Given the description of an element on the screen output the (x, y) to click on. 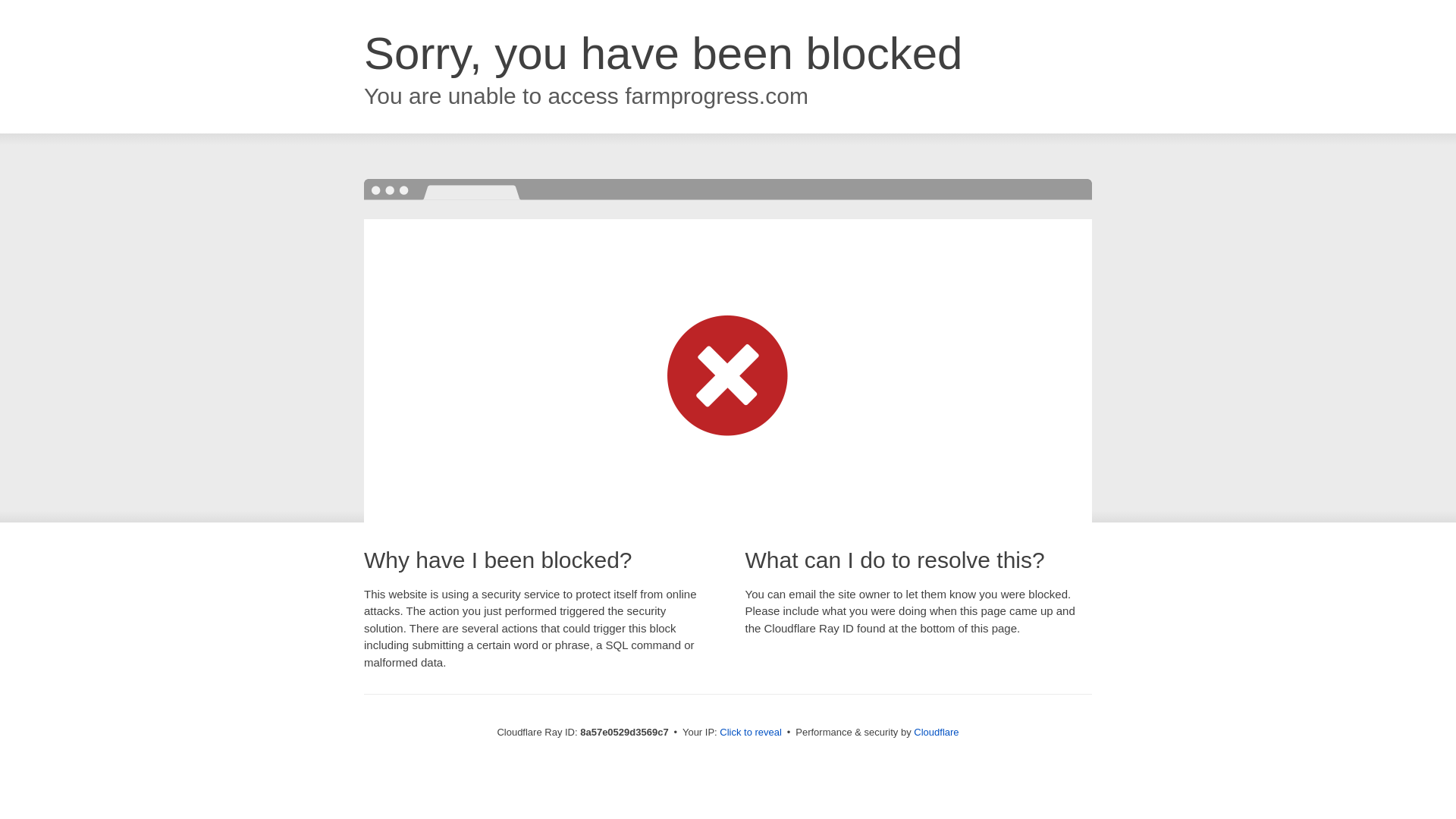
Cloudflare (936, 731)
Click to reveal (750, 732)
